Given the description of an element on the screen output the (x, y) to click on. 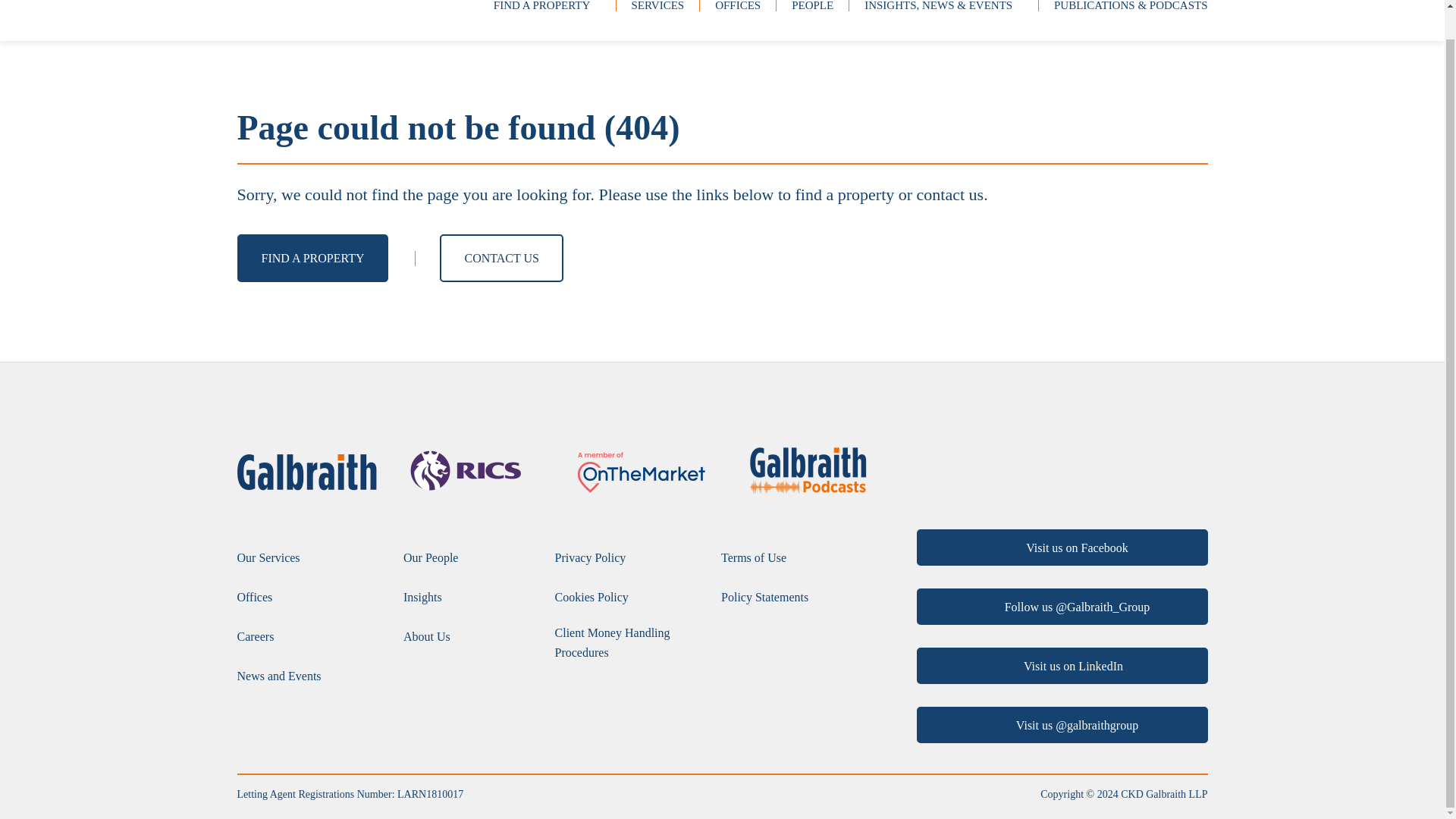
Visit us on LinkedIn (1061, 665)
Our People (430, 557)
Careers (254, 637)
MENU ARROW (595, 5)
FIND A PROPERTY (311, 258)
Cookies Policy (591, 597)
FIND A PROPERTY MENU ARROW (546, 7)
PEOPLE (812, 7)
Insights (422, 597)
News and Events (277, 676)
Offices (253, 597)
SERVICES (657, 7)
About Us (426, 637)
Client Money Handling Procedures (630, 642)
CONTACT US (500, 258)
